Given the description of an element on the screen output the (x, y) to click on. 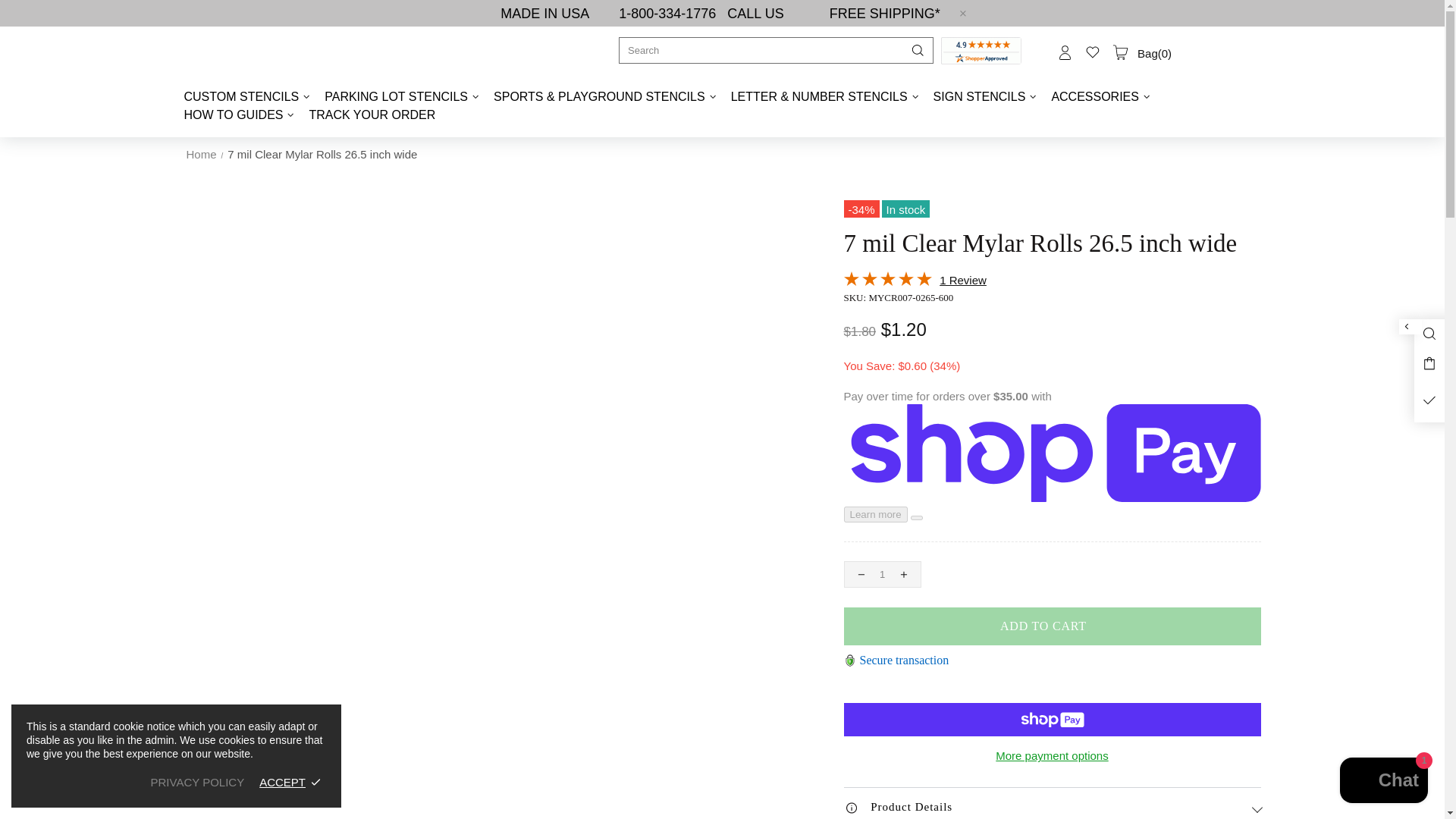
1 (881, 574)
CUSTOM STENCILS (249, 97)
Stencil Ease (277, 51)
Shopify online store chat (1383, 781)
PARKING LOT STENCILS (402, 97)
